Given the description of an element on the screen output the (x, y) to click on. 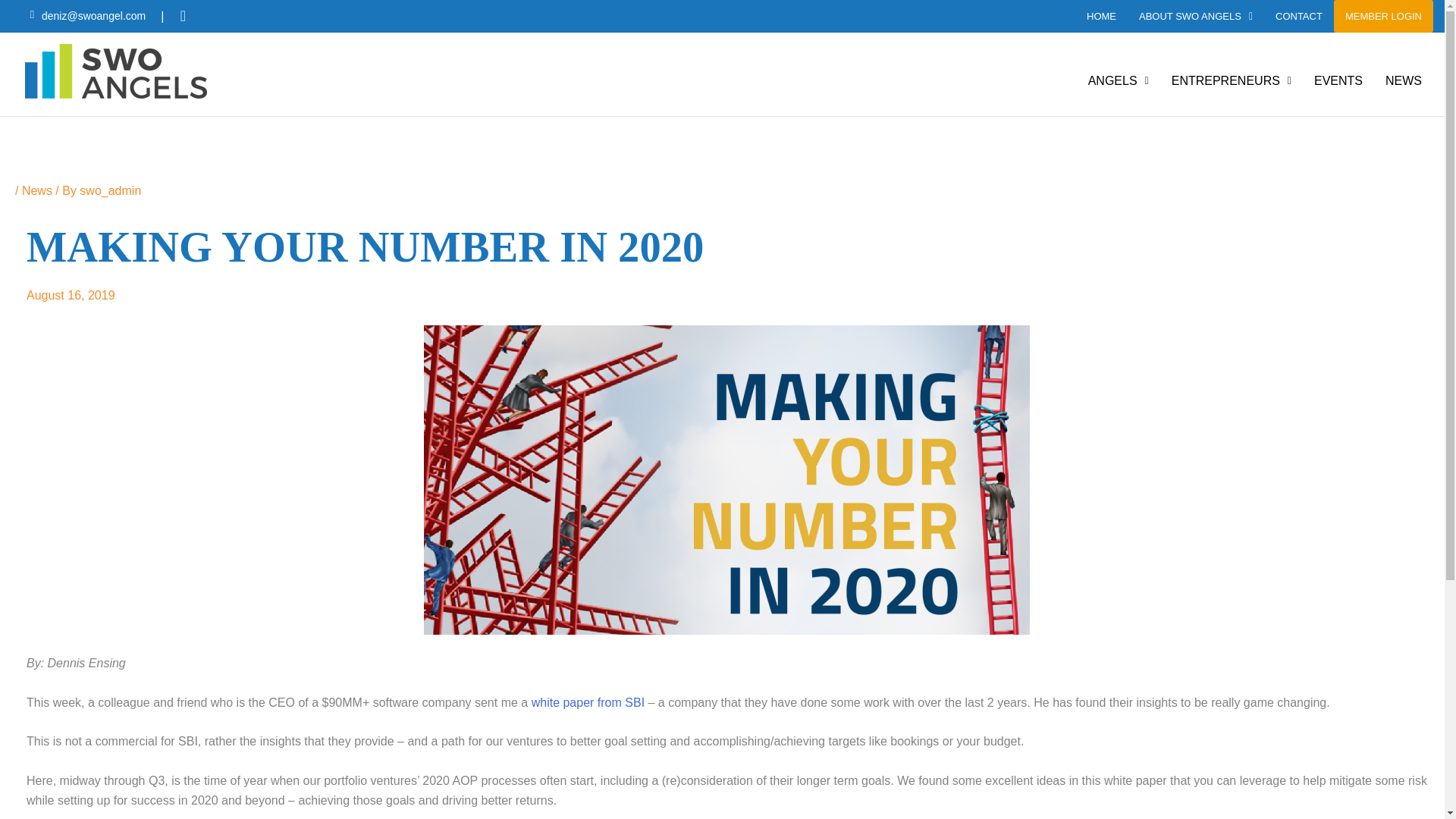
MEMBER LOGIN (1382, 16)
ABOUT SWO ANGELS (1194, 16)
ENTREPRENEURS (1231, 80)
CONTACT (1298, 16)
NEWS (1403, 80)
ANGELS (1118, 80)
HOME (1100, 16)
EVENTS (1338, 80)
